Given the description of an element on the screen output the (x, y) to click on. 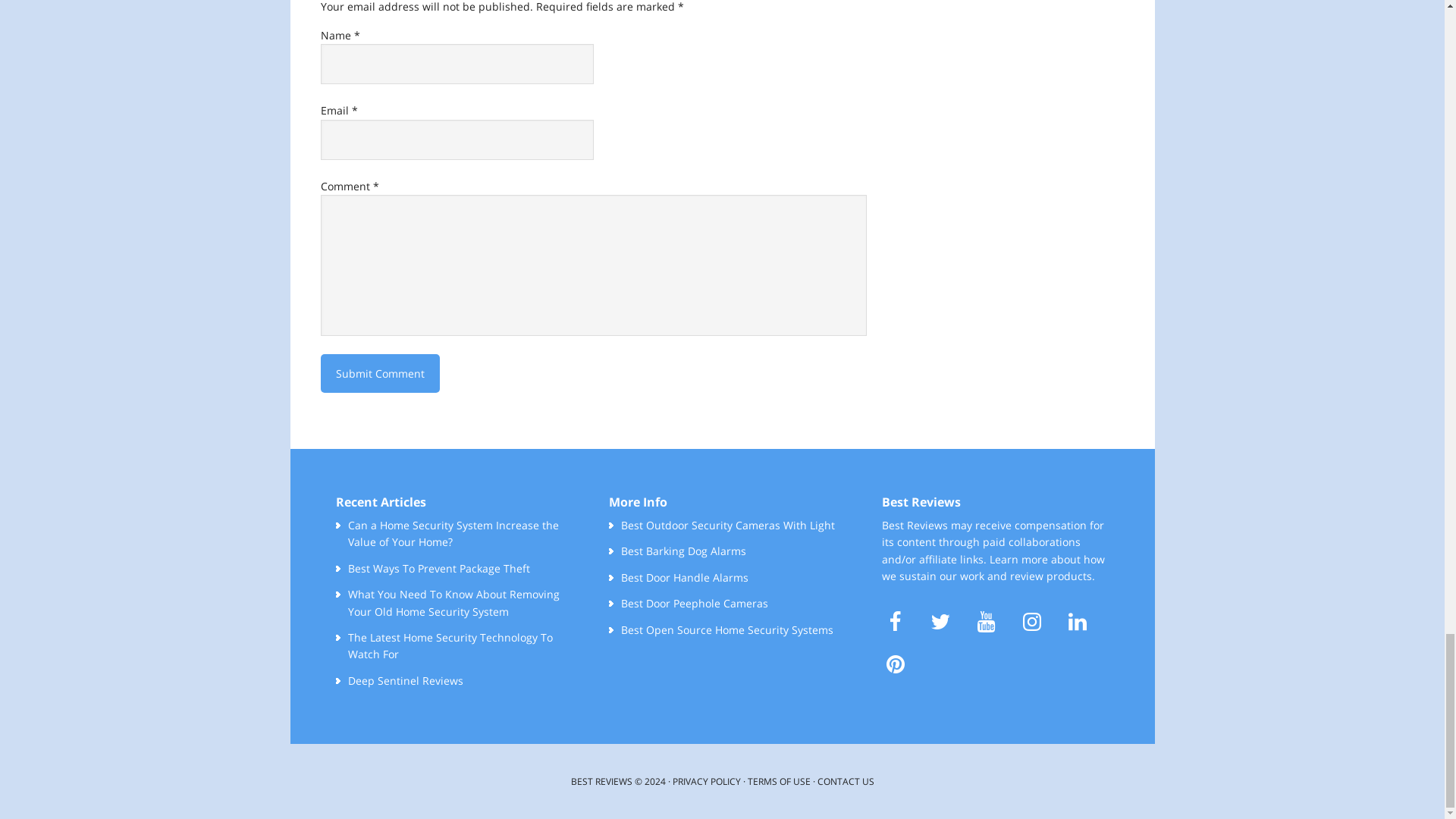
How We Review (1051, 575)
Privacy Policy (705, 780)
How We Sustain Our Work (993, 567)
Submit Comment (379, 373)
Terms of Use (779, 780)
